Given the description of an element on the screen output the (x, y) to click on. 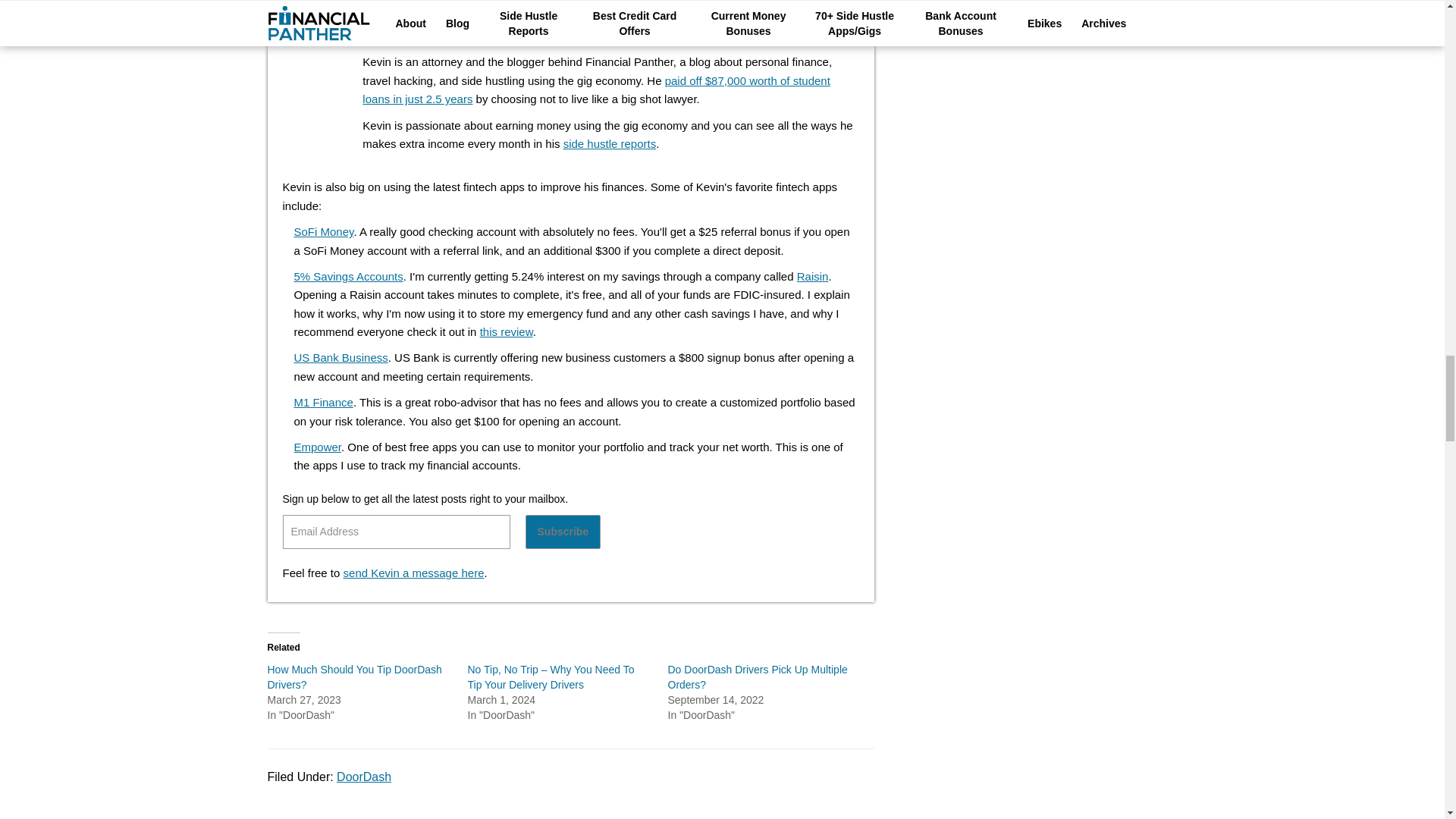
Subscribe (561, 531)
Do DoorDash Drivers Pick Up Multiple Orders? (756, 677)
How Much Should You Tip DoorDash Drivers? (353, 677)
